Given the description of an element on the screen output the (x, y) to click on. 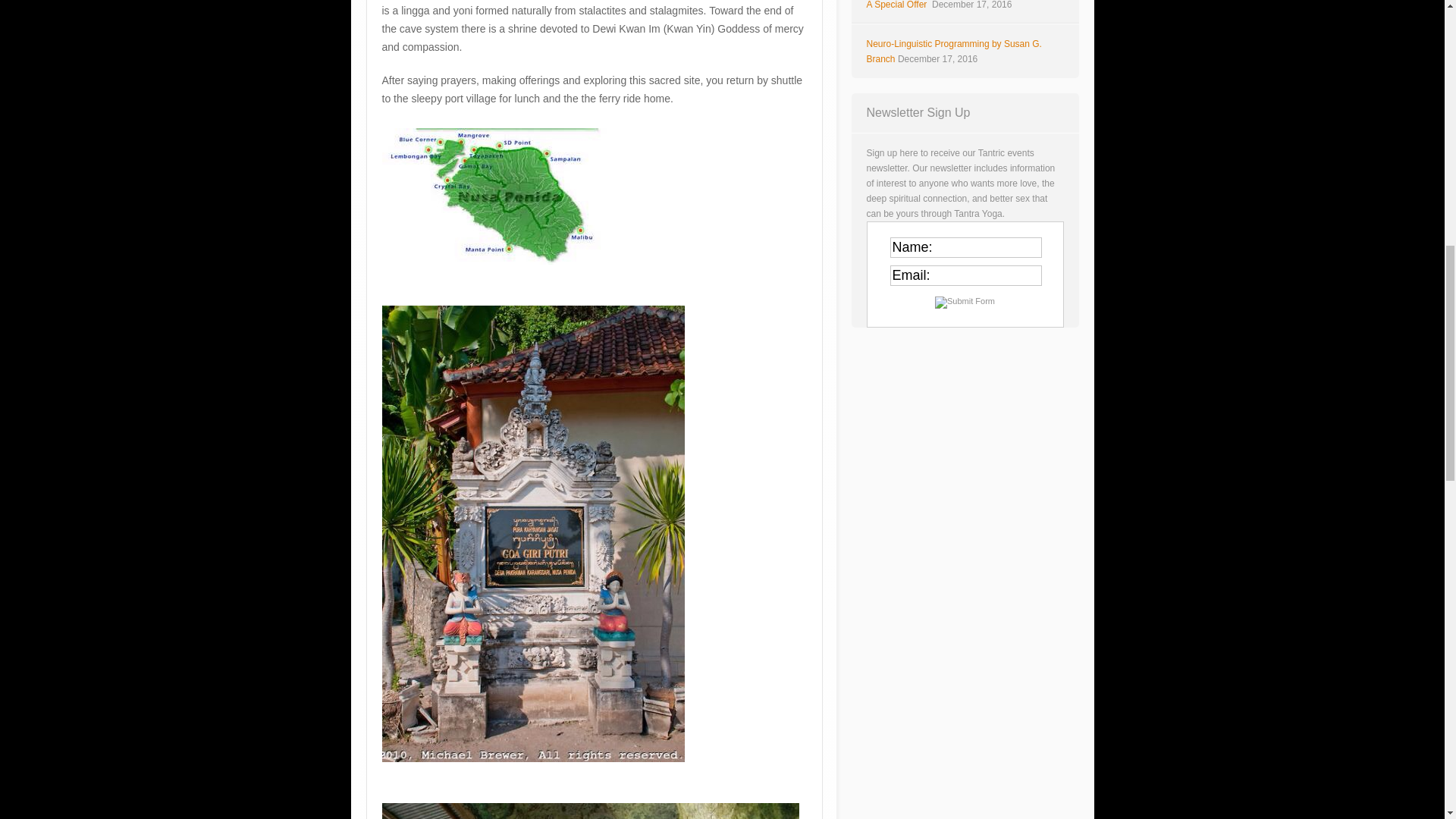
Email: (965, 275)
Name: (965, 247)
